Given the description of an element on the screen output the (x, y) to click on. 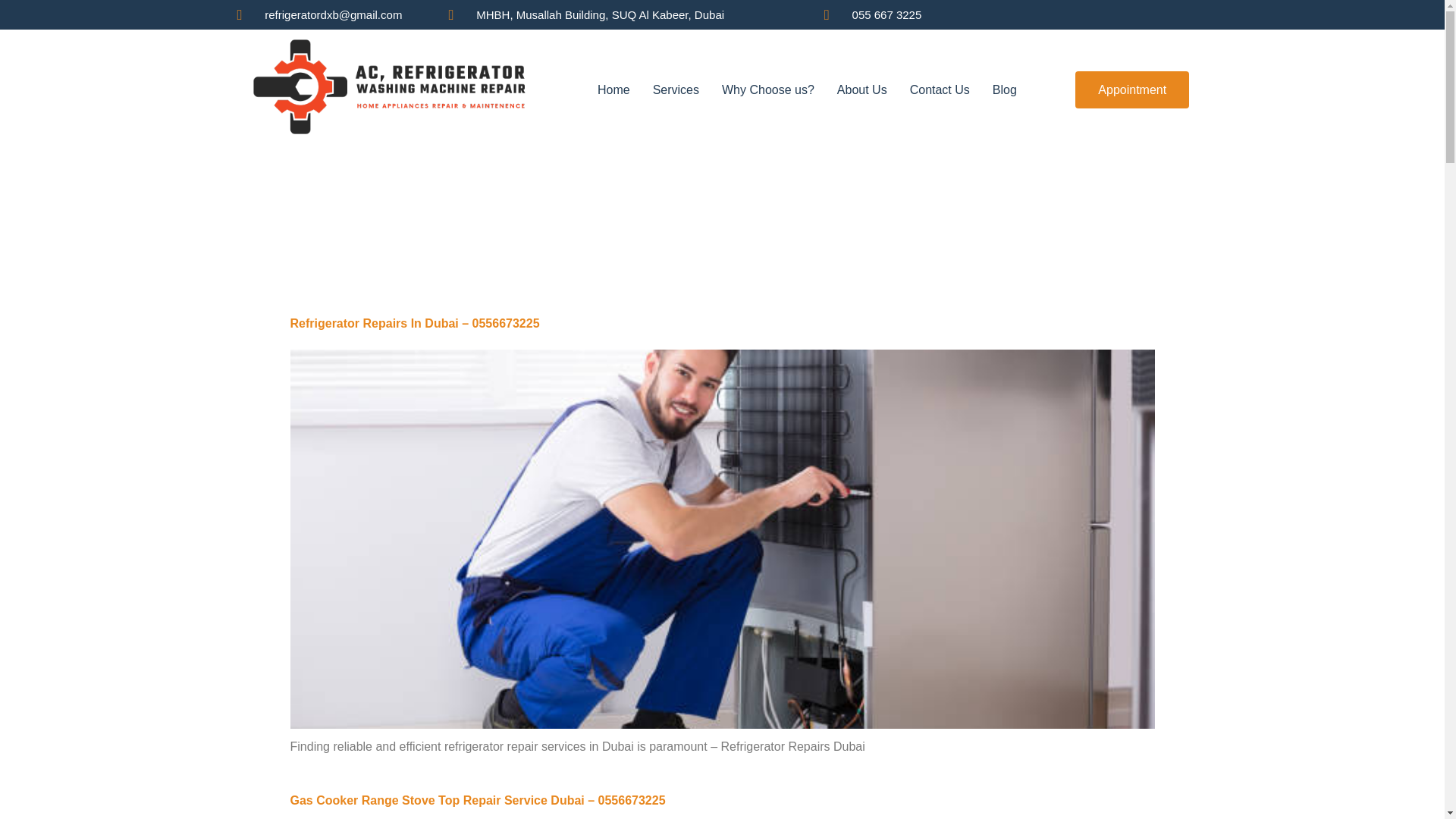
Contact Us (939, 88)
MHBH, Musallah Building, SUQ Al Kabeer, Dubai (628, 14)
Services (676, 88)
Why Choose us? (767, 88)
Appointment (1132, 89)
Home (614, 88)
055 667 3225 (874, 14)
About Us (861, 88)
